Given the description of an element on the screen output the (x, y) to click on. 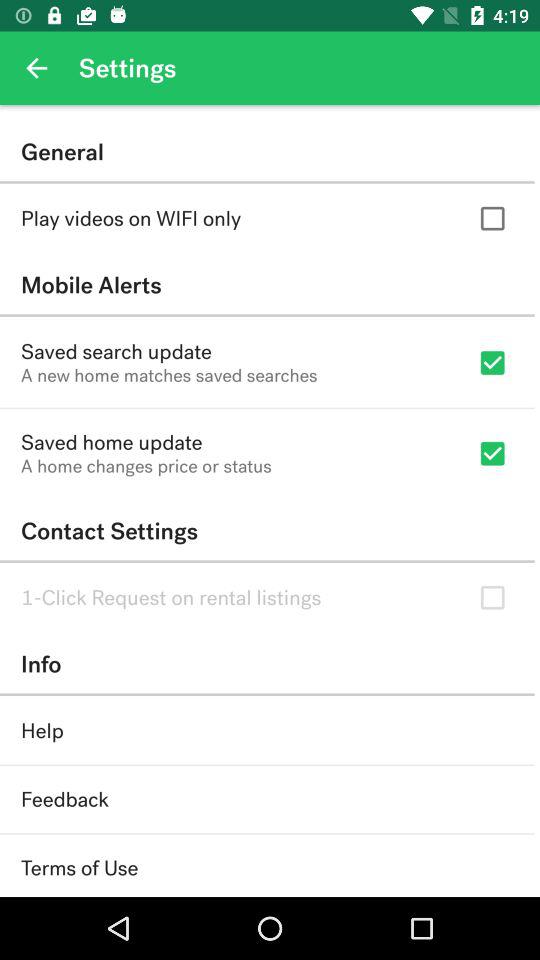
open general item (267, 151)
